Given the description of an element on the screen output the (x, y) to click on. 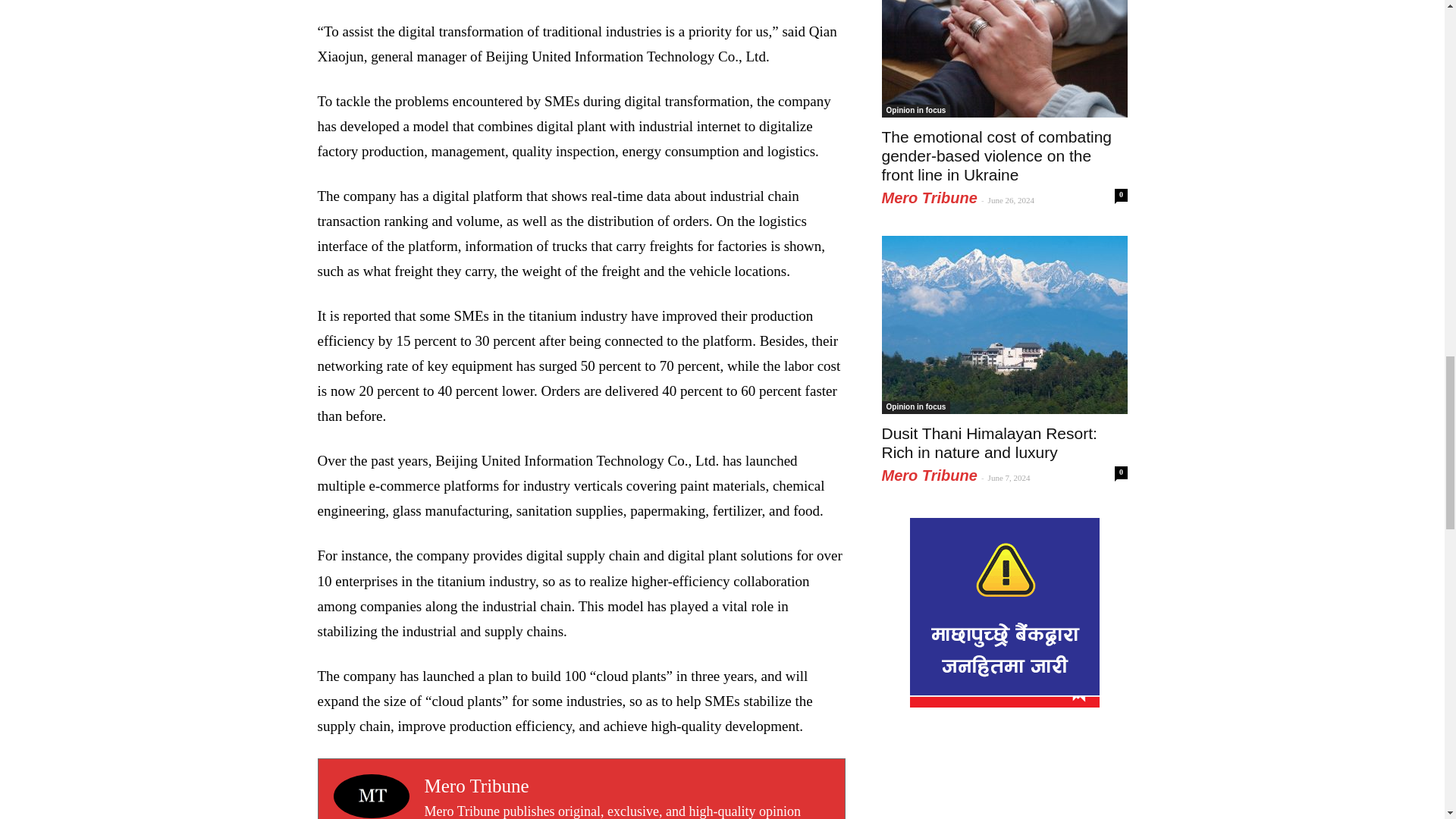
Dusit Thani Himalayan Resort: Rich in nature and luxury (988, 443)
Dusit Thani Himalayan Resort: Rich in nature and luxury (1003, 324)
